Given the description of an element on the screen output the (x, y) to click on. 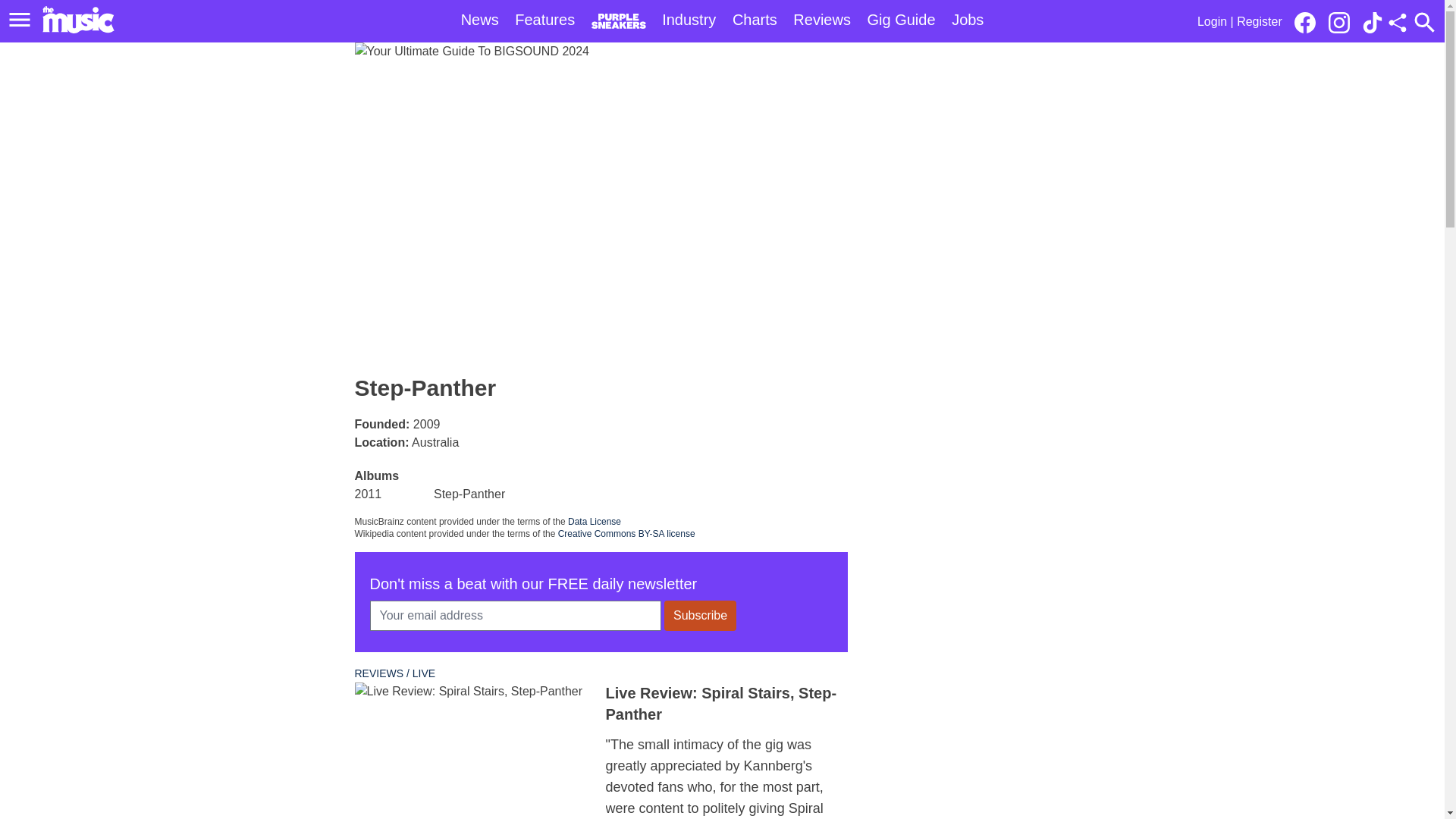
Features (545, 19)
Link to our Instagram (1338, 22)
Open the main menu (22, 19)
Jobs (968, 19)
Reviews (821, 19)
Link to our TikTok (1372, 22)
Register (1259, 21)
Link to our Facebook (1309, 21)
Link to our Facebook (1305, 22)
Data License (594, 521)
